Given the description of an element on the screen output the (x, y) to click on. 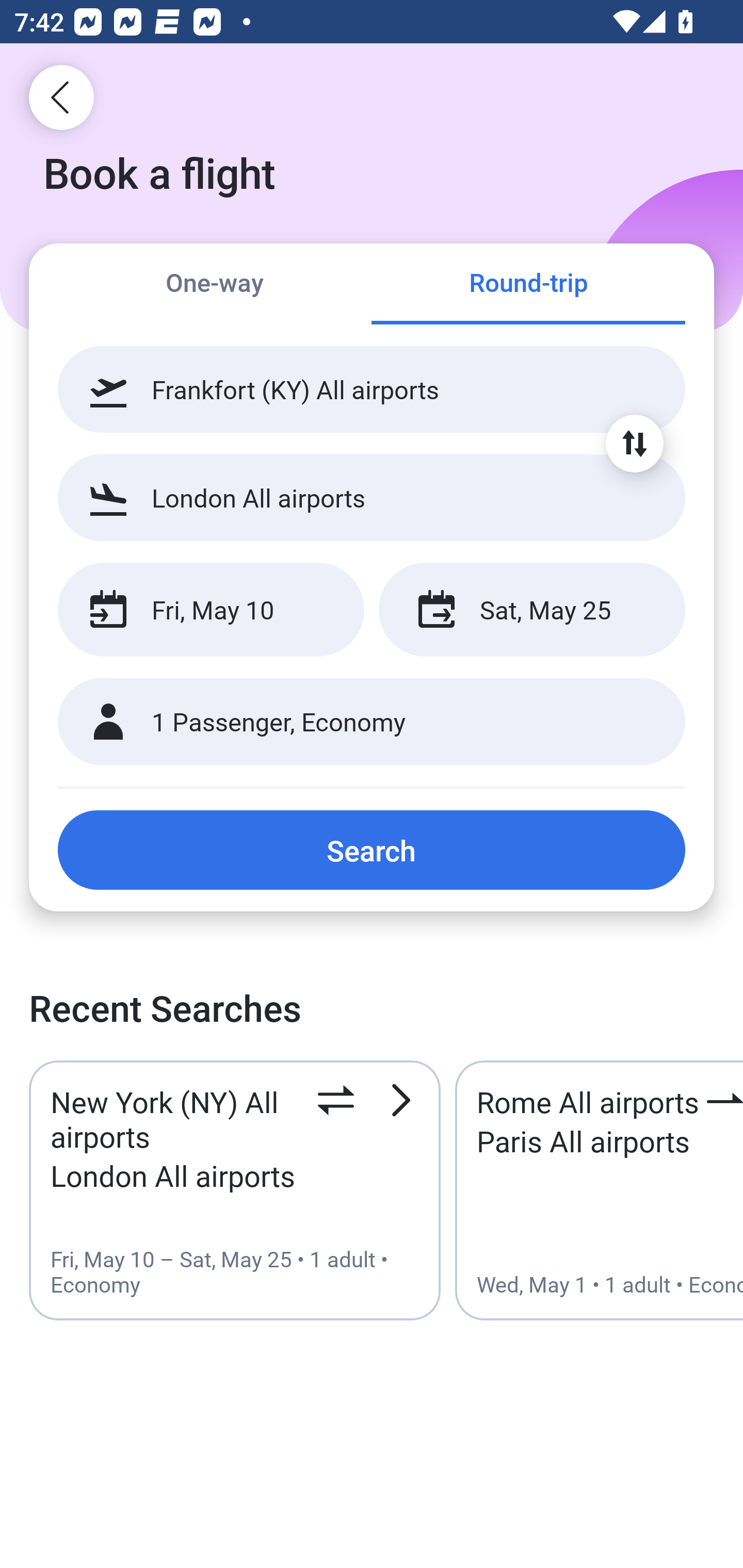
One-way (214, 284)
Frankfort (KY) All airports (371, 389)
London All airports (371, 497)
Fri, May 10 (210, 609)
Sat, May 25 (531, 609)
1 Passenger, Economy (371, 721)
Search (371, 849)
